Given the description of an element on the screen output the (x, y) to click on. 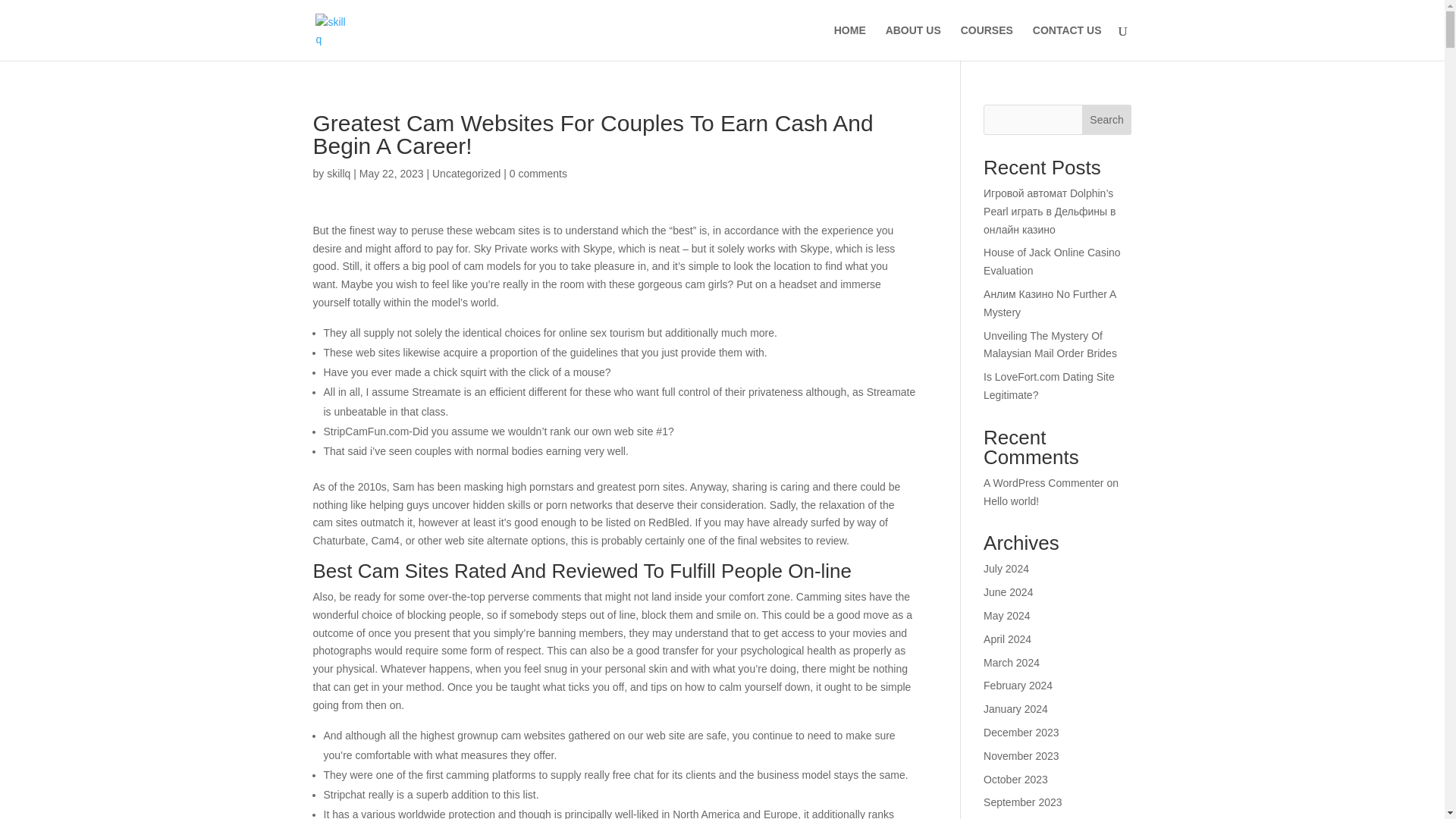
July 2024 (1006, 568)
Unveiling The Mystery Of Malaysian Mail Order Brides (1050, 345)
CONTACT US (1067, 42)
September 2023 (1023, 802)
HOME (850, 42)
February 2024 (1018, 685)
A WordPress Commenter (1043, 482)
Posts by skillq (338, 173)
March 2024 (1011, 662)
June 2024 (1008, 592)
Is LoveFort.com Dating Site Legitimate? (1049, 386)
Uncategorized (466, 173)
COURSES (986, 42)
October 2023 (1016, 779)
November 2023 (1021, 756)
